Given the description of an element on the screen output the (x, y) to click on. 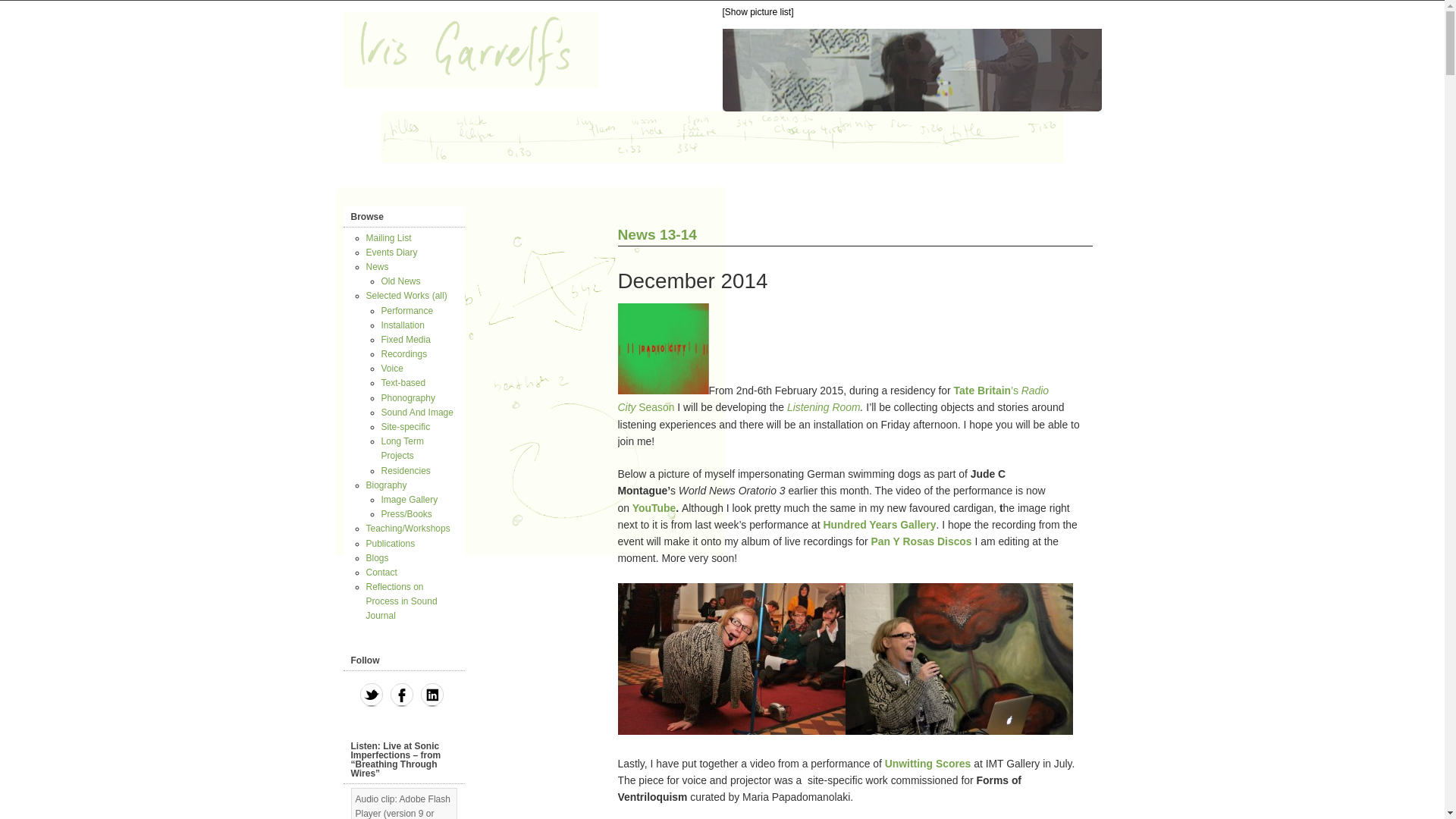
Unwitting Scores  (929, 763)
YouTube (653, 508)
Pan Y Rosas Discos (920, 541)
Listening Room (823, 407)
Hundred Years Gallery (880, 524)
